Given the description of an element on the screen output the (x, y) to click on. 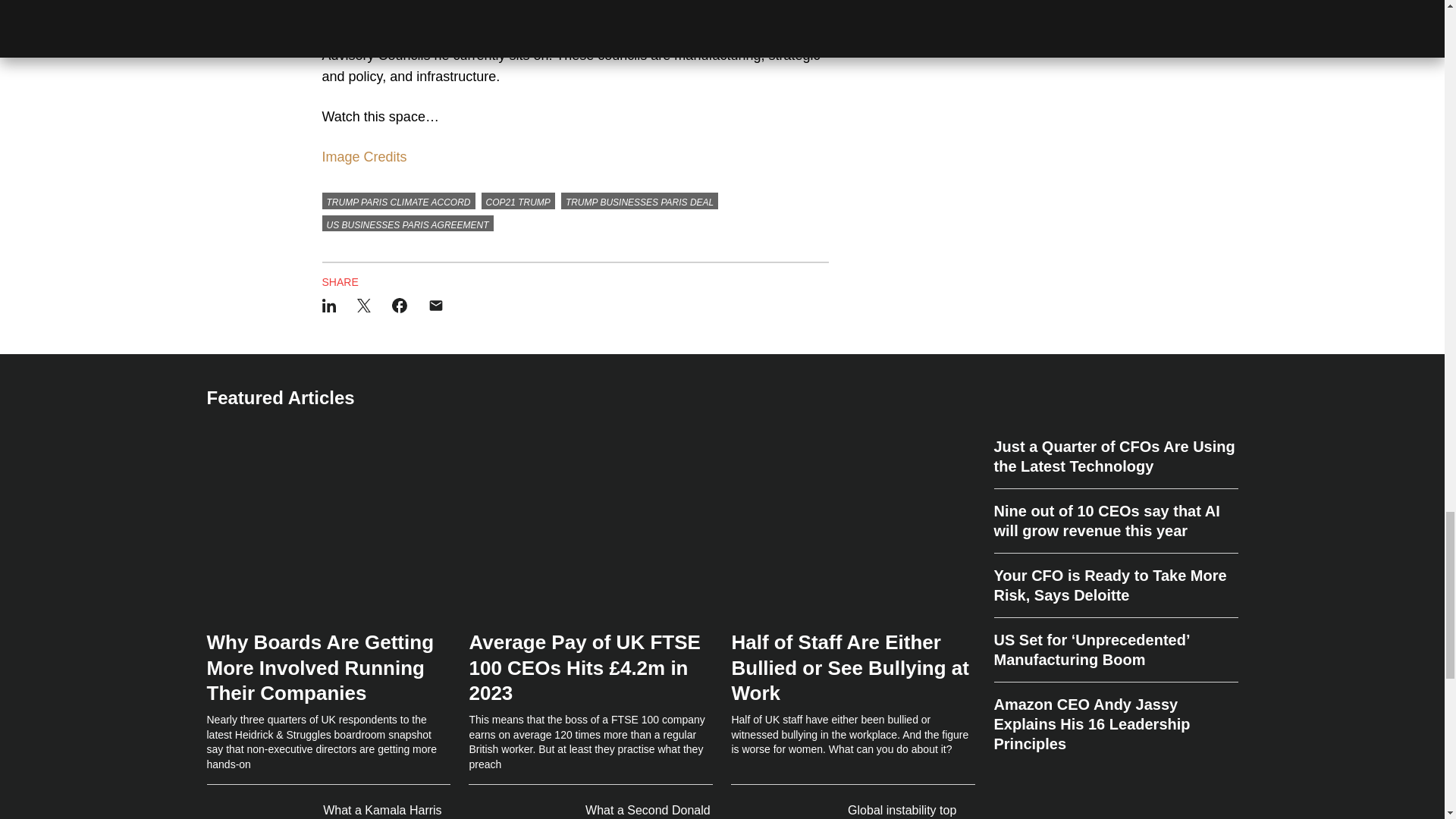
Your CFO is Ready to Take More Risk, Says Deloitte (1114, 585)
Amazon CEO Andy Jassy Explains His 16 Leadership Principles (1114, 717)
US BUSINESSES PARIS AGREEMENT (407, 223)
COP21 TRUMP (517, 200)
TRUMP BUSINESSES PARIS DEAL (638, 200)
Just a Quarter of CFOs Are Using the Latest Technology (1114, 462)
Nine out of 10 CEOs say that AI will grow revenue this year (1114, 520)
TRUMP PARIS CLIMATE ACCORD (397, 200)
Image Credits (363, 156)
